Given the description of an element on the screen output the (x, y) to click on. 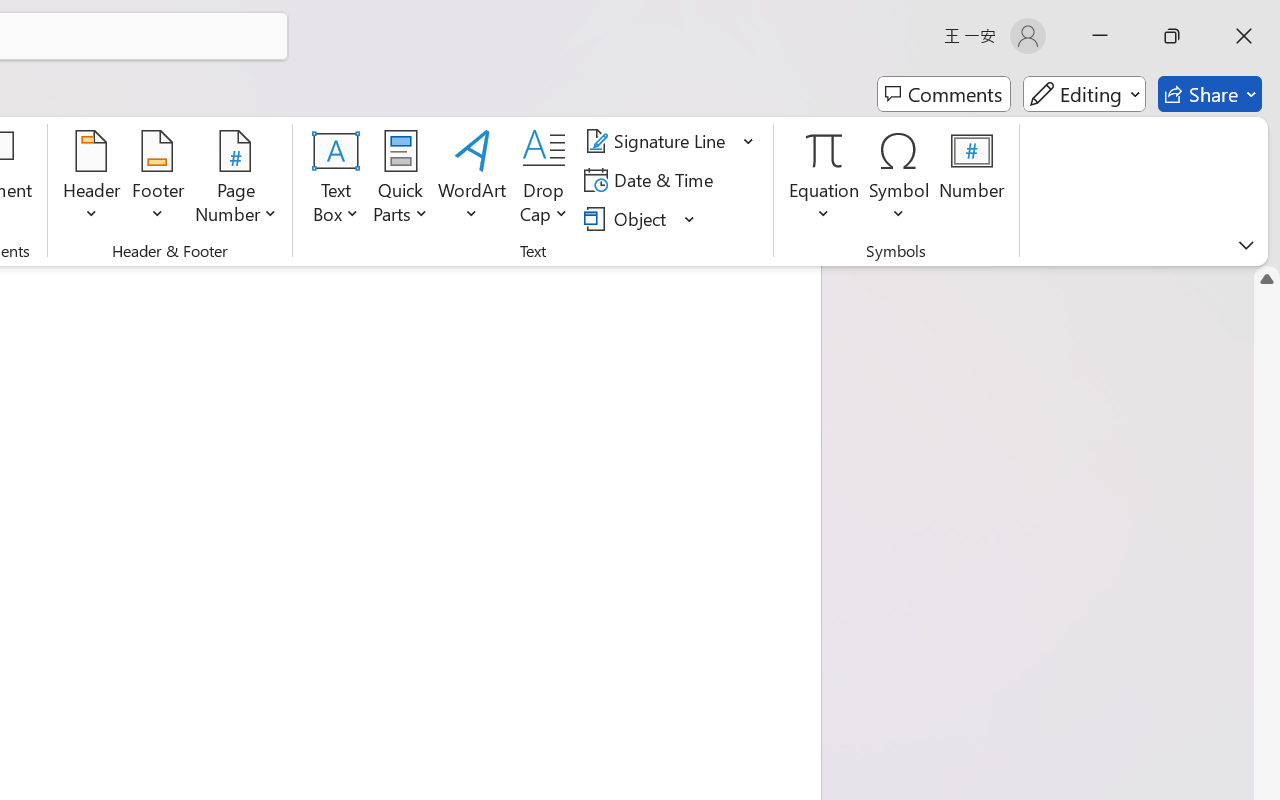
Share (1210, 94)
WordArt (472, 179)
More Options (823, 206)
Object... (640, 218)
Minimize (1099, 36)
Signature Line (658, 141)
Header (92, 179)
Number... (971, 179)
Page Number (236, 179)
Equation (823, 179)
Ribbon Display Options (1246, 245)
Signature Line (669, 141)
Close (1244, 36)
Symbol (899, 179)
